Given the description of an element on the screen output the (x, y) to click on. 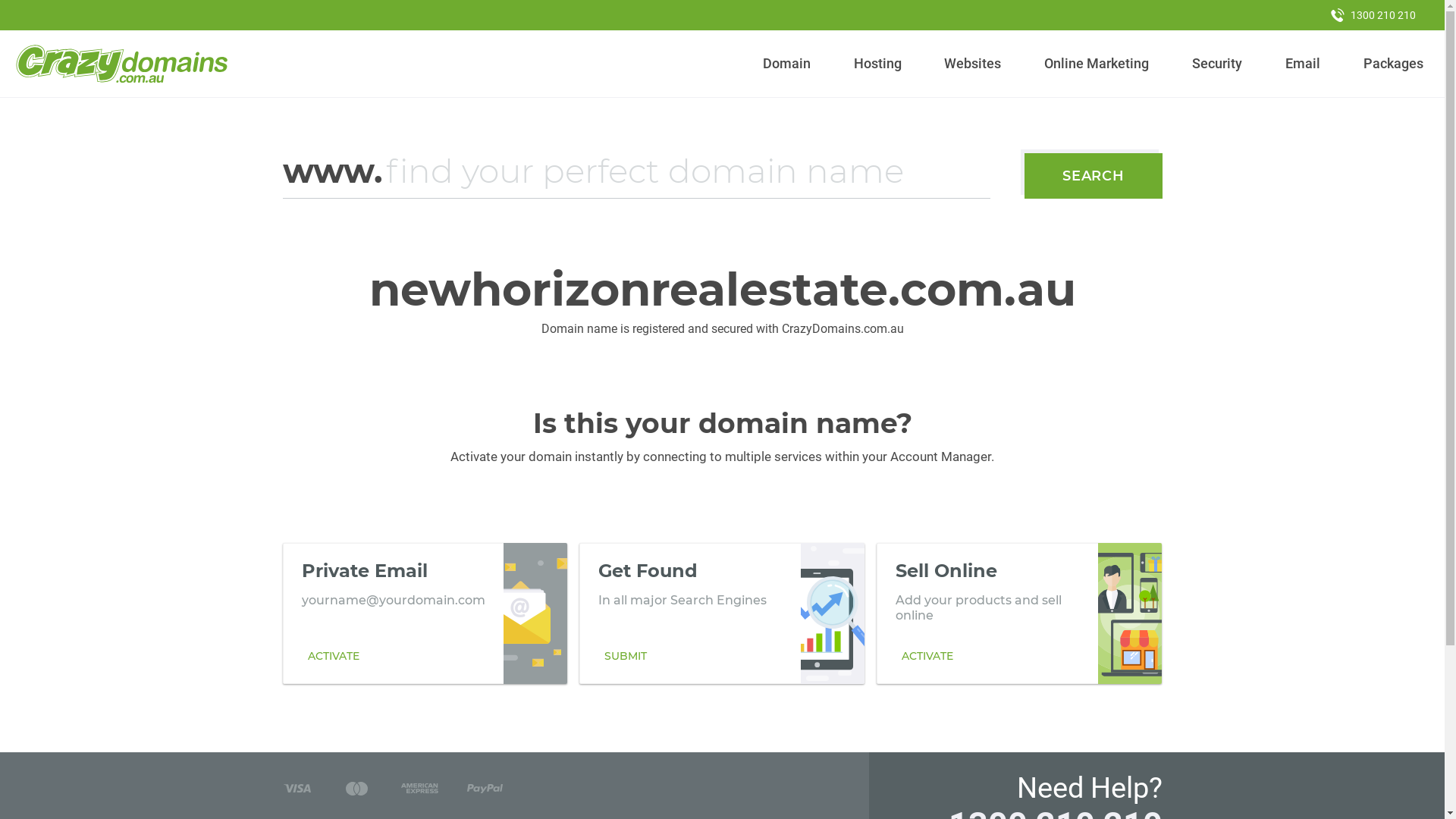
1300 210 210 Element type: text (1373, 15)
Online Marketing Element type: text (1096, 63)
Hosting Element type: text (877, 63)
Security Element type: text (1217, 63)
Sell Online
Add your products and sell online
ACTIVATE Element type: text (1018, 613)
Email Element type: text (1302, 63)
Packages Element type: text (1392, 63)
Domain Element type: text (786, 63)
Websites Element type: text (972, 63)
SEARCH Element type: text (1092, 175)
Get Found
In all major Search Engines
SUBMIT Element type: text (721, 613)
Private Email
yourname@yourdomain.com
ACTIVATE Element type: text (424, 613)
